Given the description of an element on the screen output the (x, y) to click on. 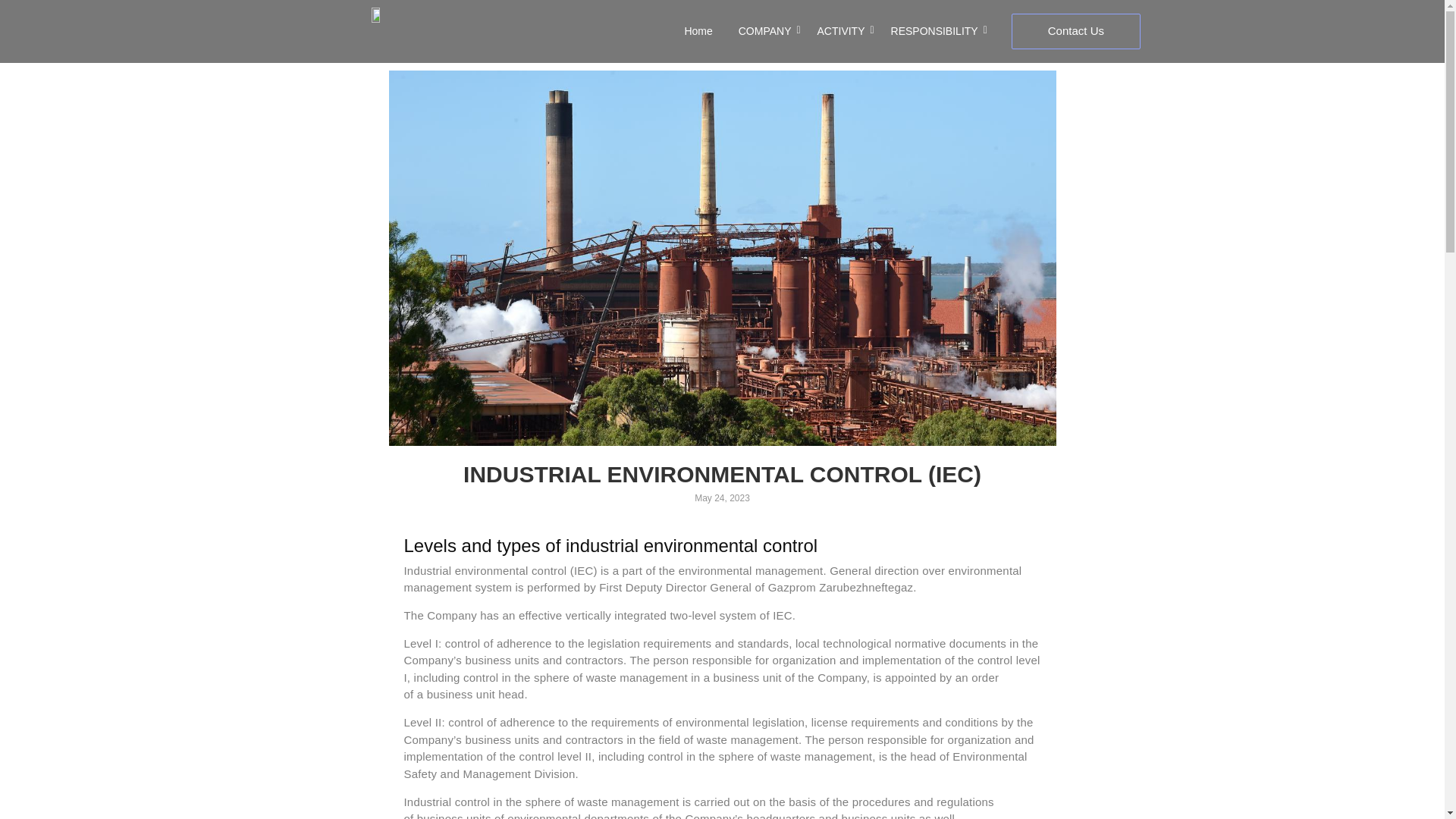
Home (697, 31)
COMPANY (764, 31)
RESPONSIBILITY (934, 31)
ACTIVITY (839, 31)
Contact Us (1075, 31)
